Given the description of an element on the screen output the (x, y) to click on. 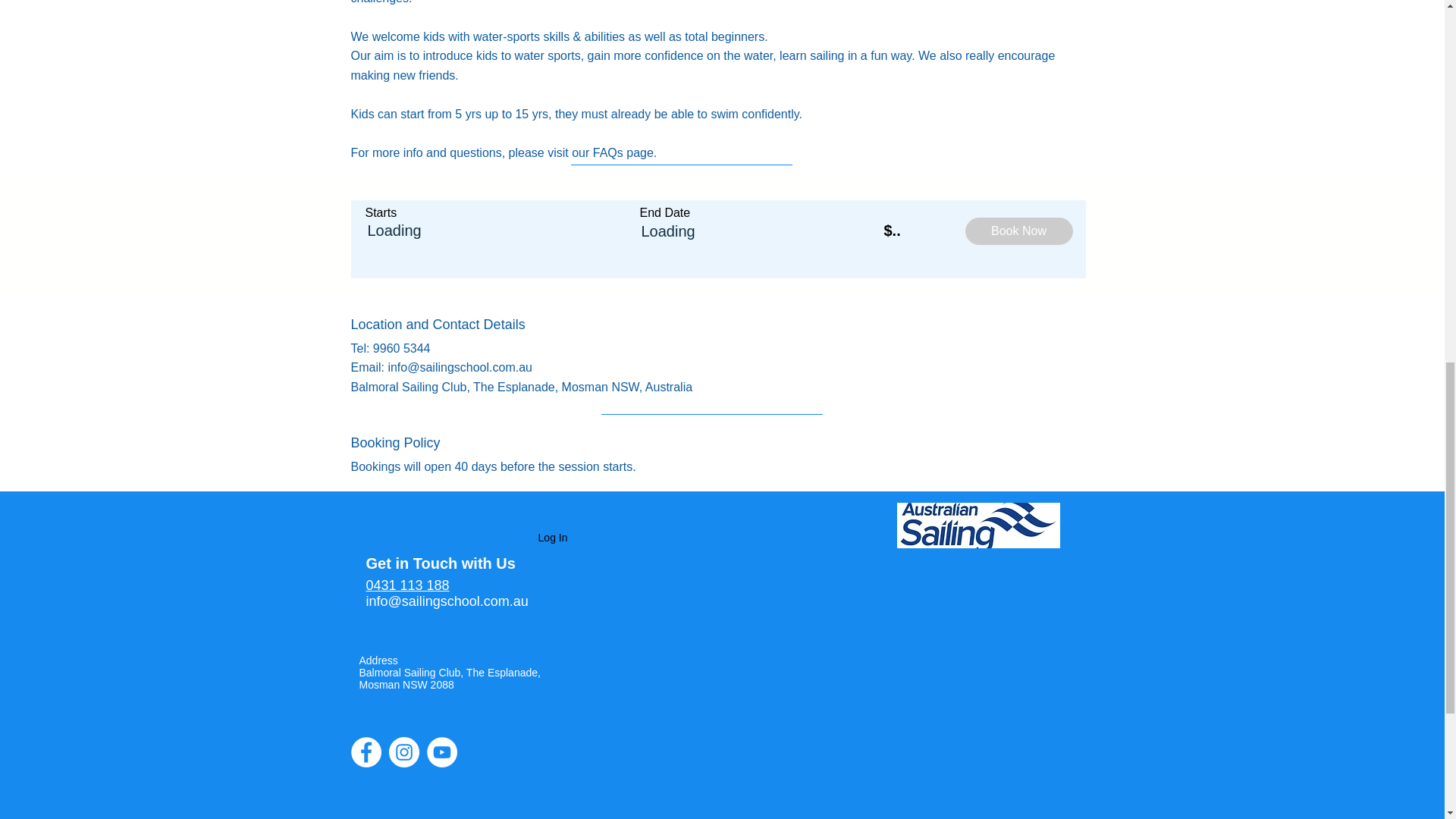
Book Now (1017, 230)
0431 113 188 (406, 585)
Log In (539, 538)
